Given the description of an element on the screen output the (x, y) to click on. 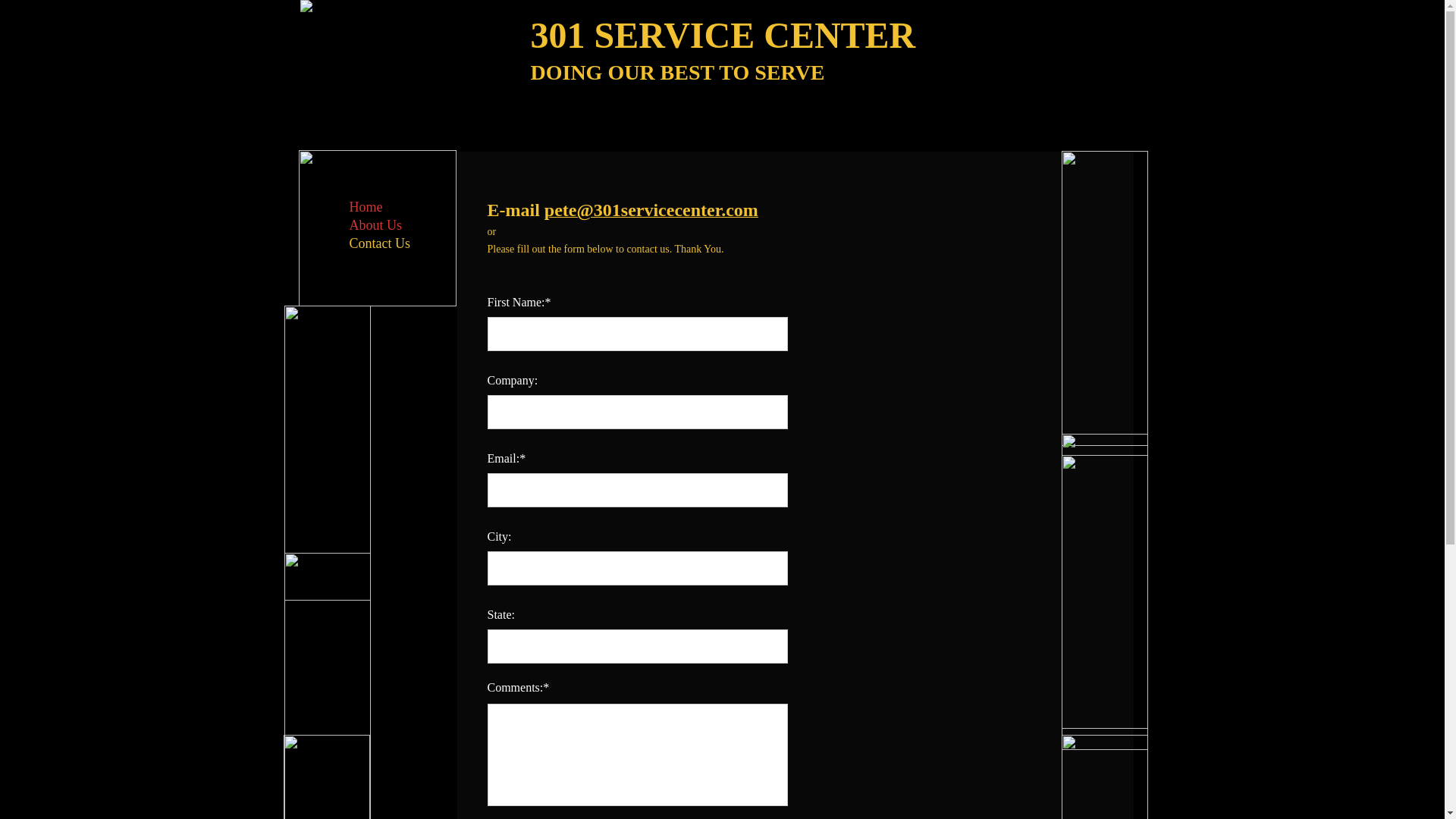
About Us Element type: text (375, 225)
original.jpg Element type: hover (1104, 580)
Home Element type: text (365, 207)
pete@301servicecenter.com Element type: text (651, 211)
original.jpg Element type: hover (326, 452)
original.jpg Element type: hover (1104, 297)
original.jpg Element type: hover (1104, 602)
Contact Us Element type: text (379, 243)
